Given the description of an element on the screen output the (x, y) to click on. 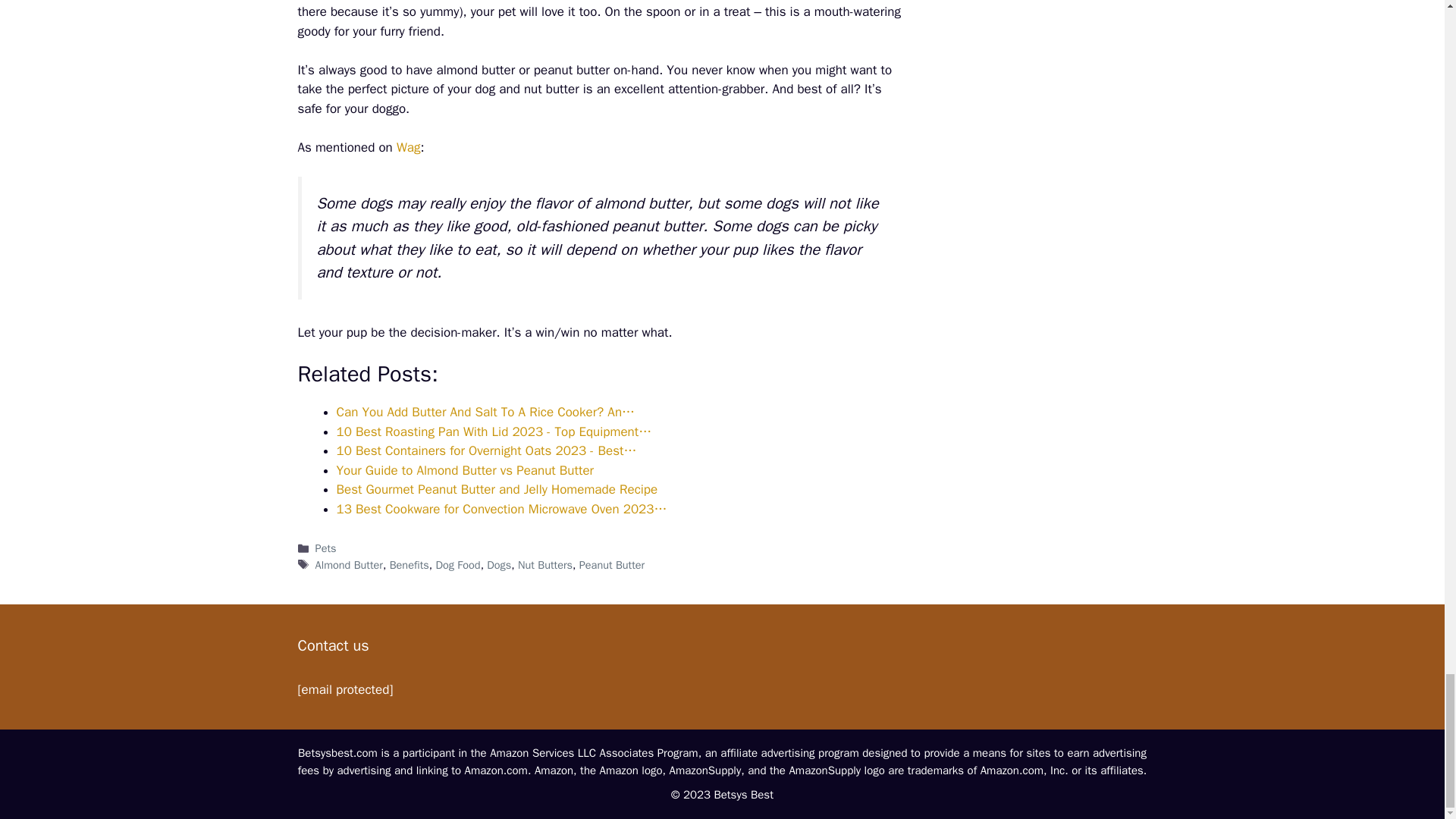
Benefits (409, 564)
Pets (325, 548)
Wag (408, 147)
Dog Food (457, 564)
Best Gourmet Peanut Butter and Jelly Homemade Recipe (497, 489)
Nut Butters (545, 564)
Your Guide to Almond Butter vs Peanut Butter (465, 470)
Almond Butter (348, 564)
Dogs (498, 564)
Peanut Butter (612, 564)
